Given the description of an element on the screen output the (x, y) to click on. 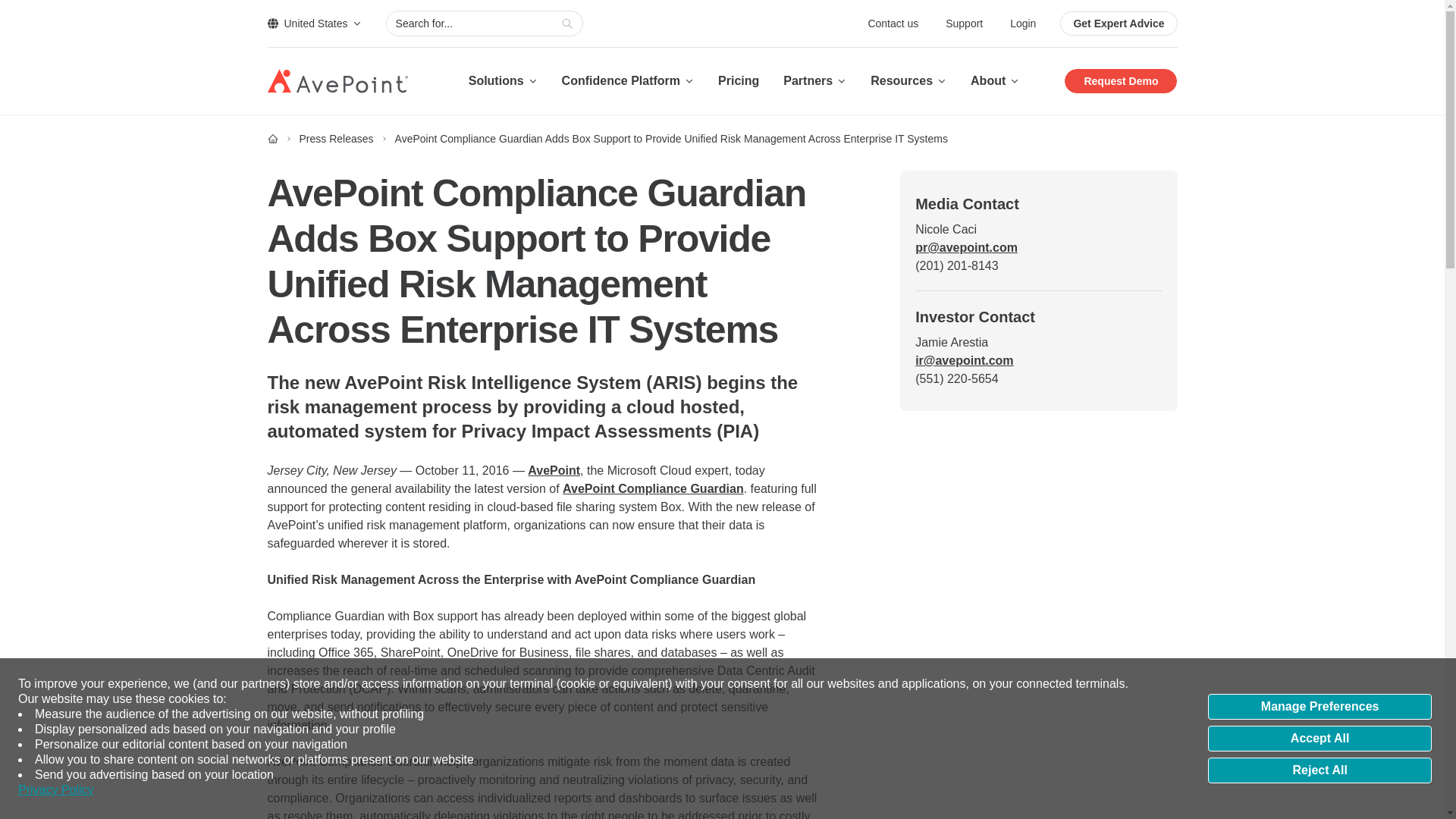
Support (964, 23)
Login (1022, 23)
Privacy Policy (55, 789)
Manage Preferences (1319, 706)
United States (313, 23)
Confidence Platform (628, 80)
Accept All (1319, 738)
Contact us (894, 23)
Solutions (502, 80)
Reject All (1319, 769)
Get Expert Advice (1117, 23)
Search (566, 23)
